Given the description of an element on the screen output the (x, y) to click on. 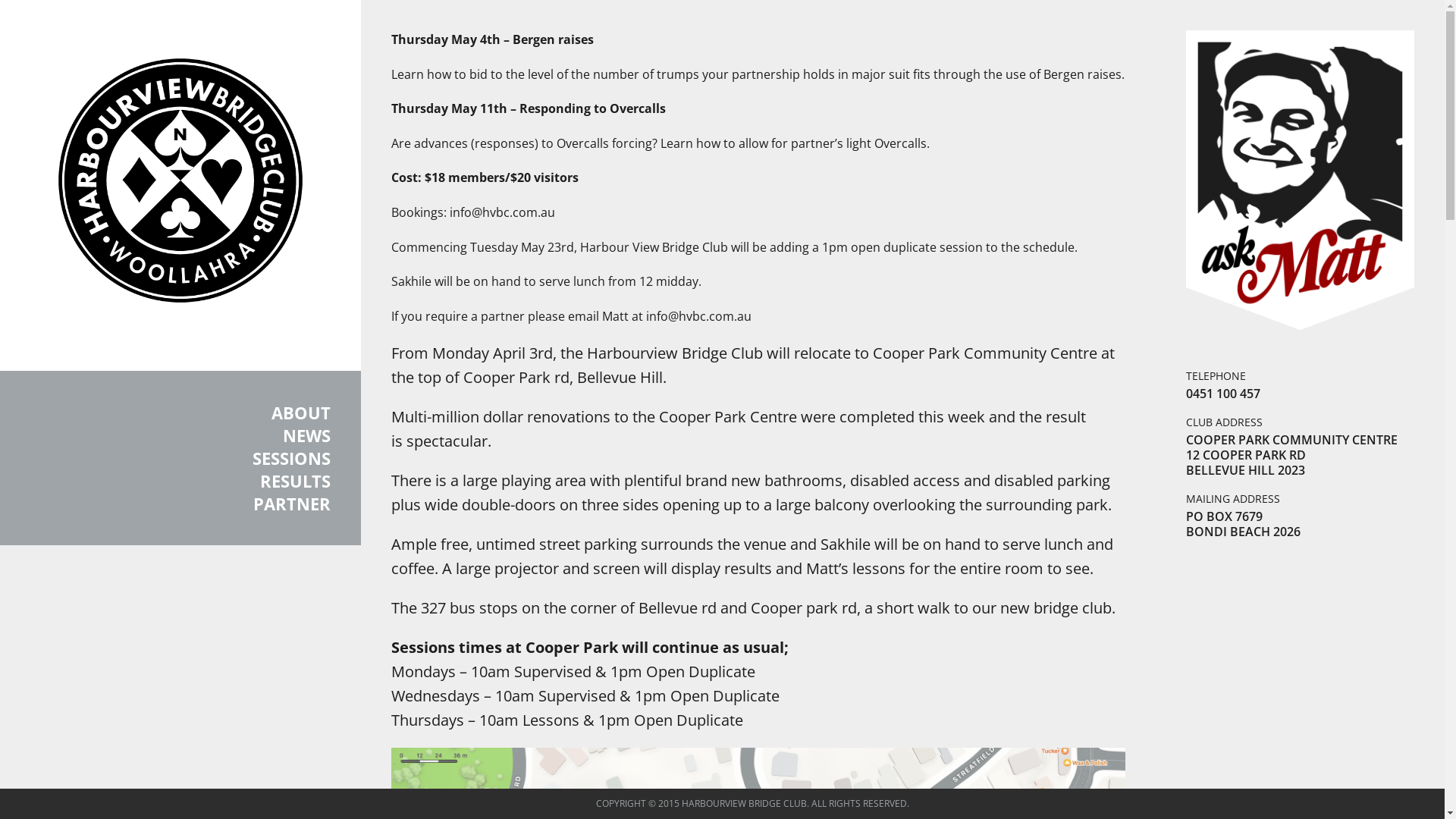
NEWS Element type: text (180, 434)
SESSIONS Element type: text (180, 457)
RESULTS Element type: text (180, 480)
PARTNER Element type: text (180, 503)
ABOUT Element type: text (180, 412)
